Given the description of an element on the screen output the (x, y) to click on. 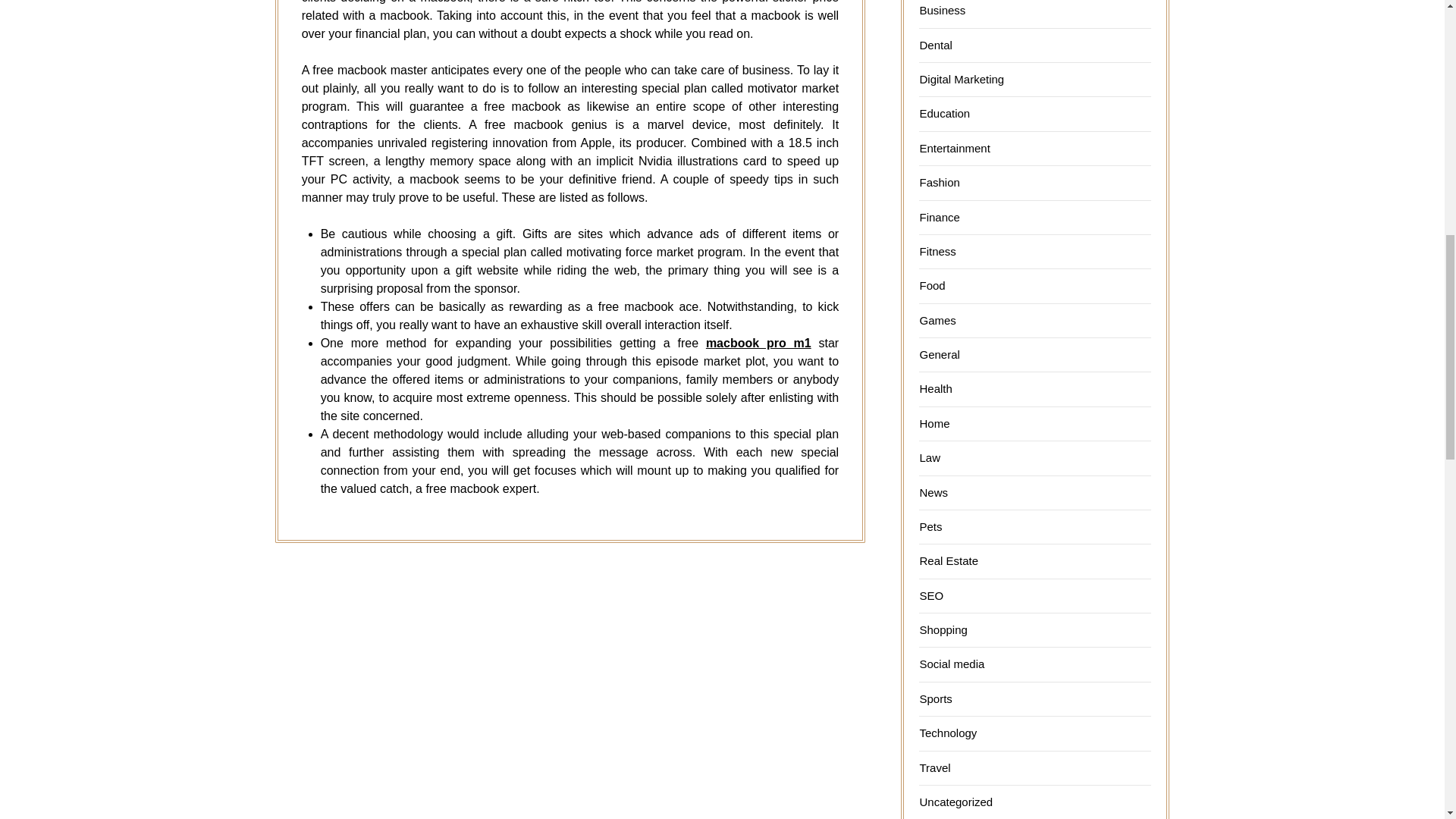
Finance (938, 216)
Real Estate (948, 560)
Games (936, 319)
macbook pro m1 (758, 342)
Fitness (936, 250)
Entertainment (954, 147)
Dental (935, 44)
Shopping (942, 629)
Fashion (938, 182)
Home (933, 422)
Food (931, 285)
SEO (930, 594)
General (938, 354)
Digital Marketing (961, 78)
Sports (935, 698)
